Given the description of an element on the screen output the (x, y) to click on. 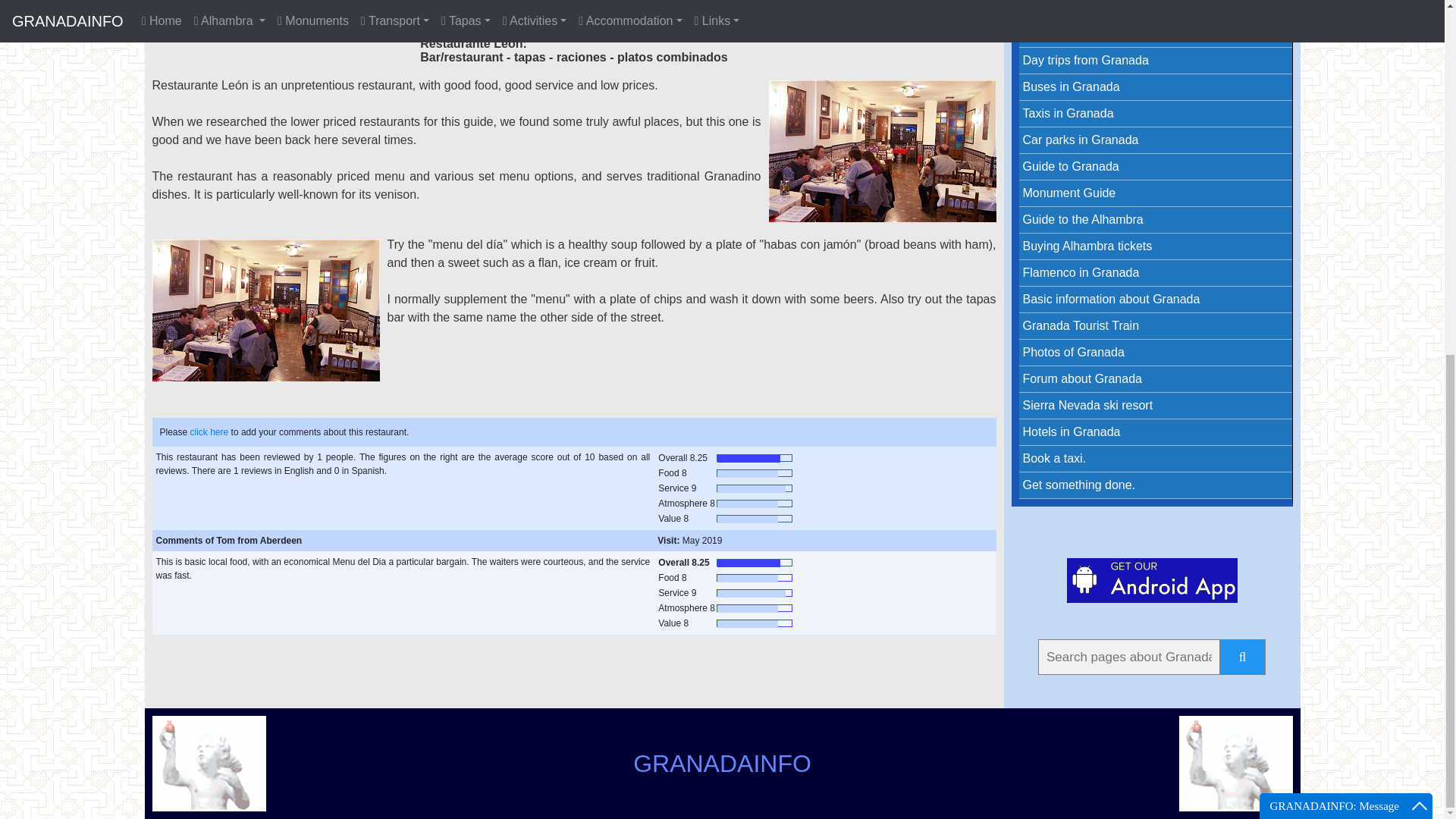
Maximize (1419, 184)
